Given the description of an element on the screen output the (x, y) to click on. 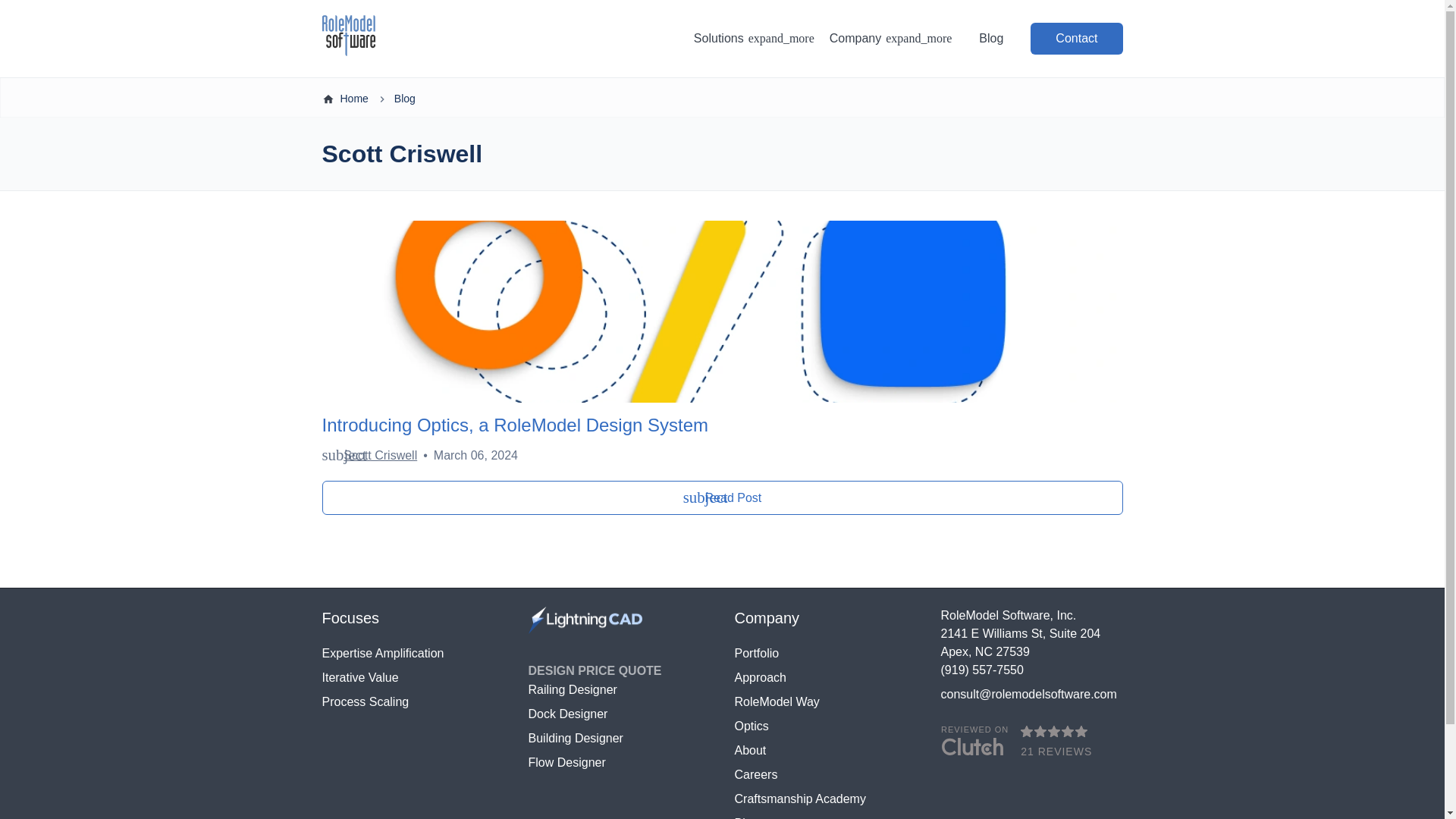
Home (353, 98)
Blog (990, 38)
Introducing Optics, a RoleModel Design System (721, 424)
Flow Designer (618, 762)
Dock Designer (618, 714)
Scott Criswell (379, 454)
Railing Designer (618, 689)
Blog (405, 98)
Iterative Value (721, 497)
Approach (412, 678)
DESIGN PRICE QUOTE (824, 678)
Building Designer (594, 670)
Expertise Amplification (618, 738)
RoleModel Software Clutch Review Widget 2 (412, 653)
